Given the description of an element on the screen output the (x, y) to click on. 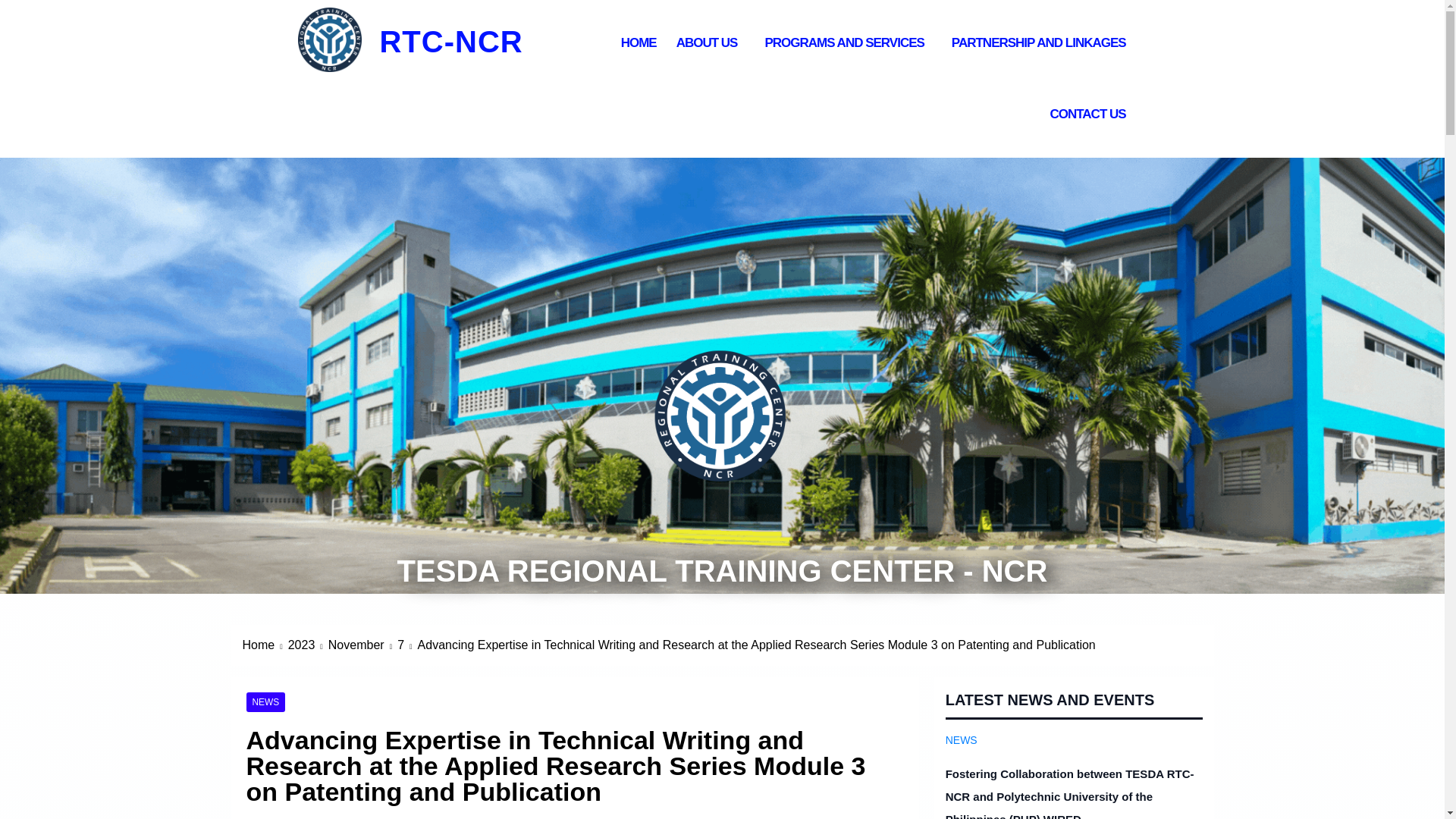
PROGRAMS AND SERVICES (847, 42)
Home (265, 645)
7 (406, 645)
2023 (308, 645)
ABOUT US (710, 42)
CONTACT US (1090, 113)
November (363, 645)
PARTNERSHIP AND LINKAGES (1042, 42)
